Given the description of an element on the screen output the (x, y) to click on. 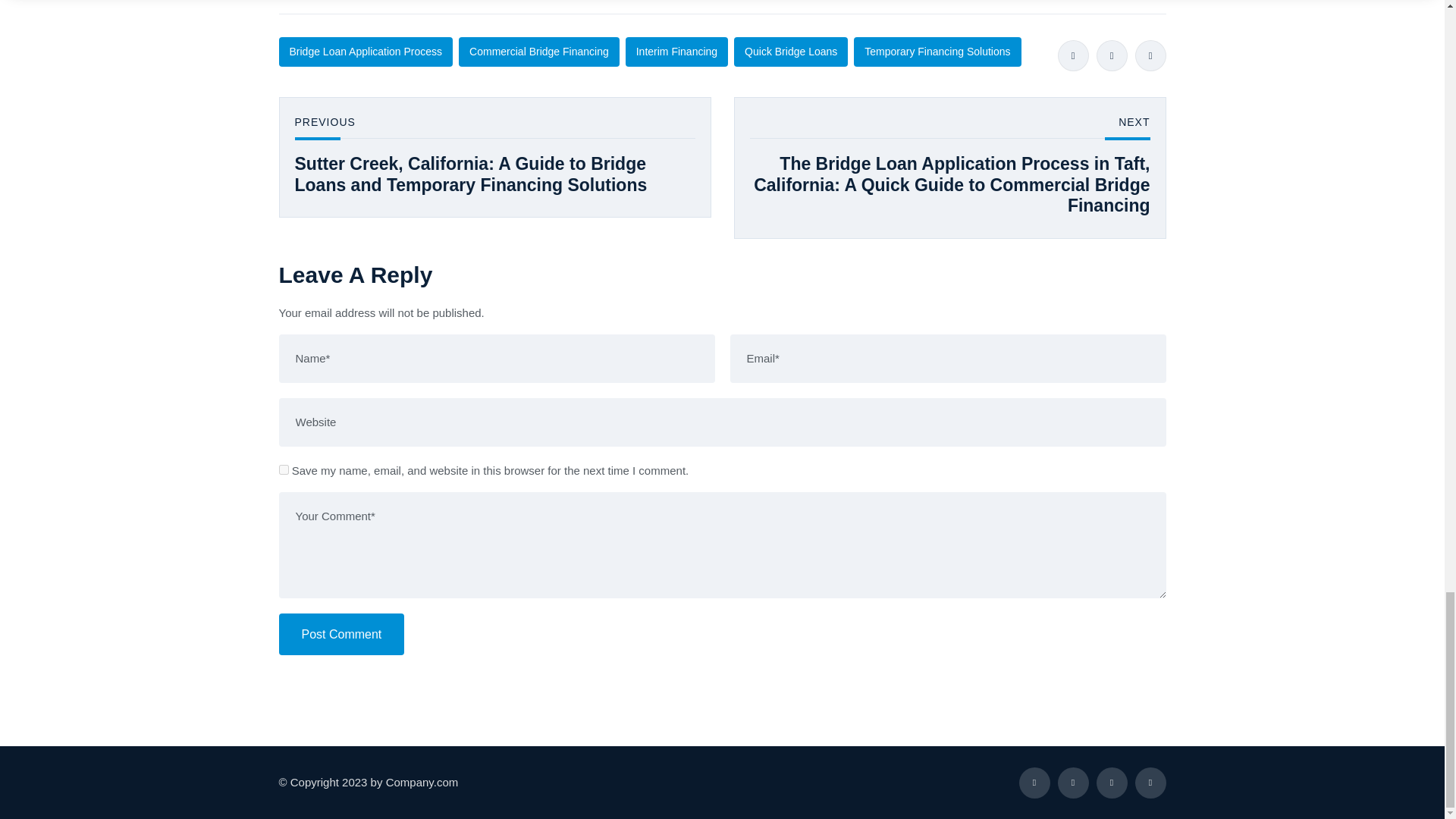
Twitter (1111, 55)
Facebook (1072, 55)
yes (283, 470)
Linkedin (1150, 55)
